Given the description of an element on the screen output the (x, y) to click on. 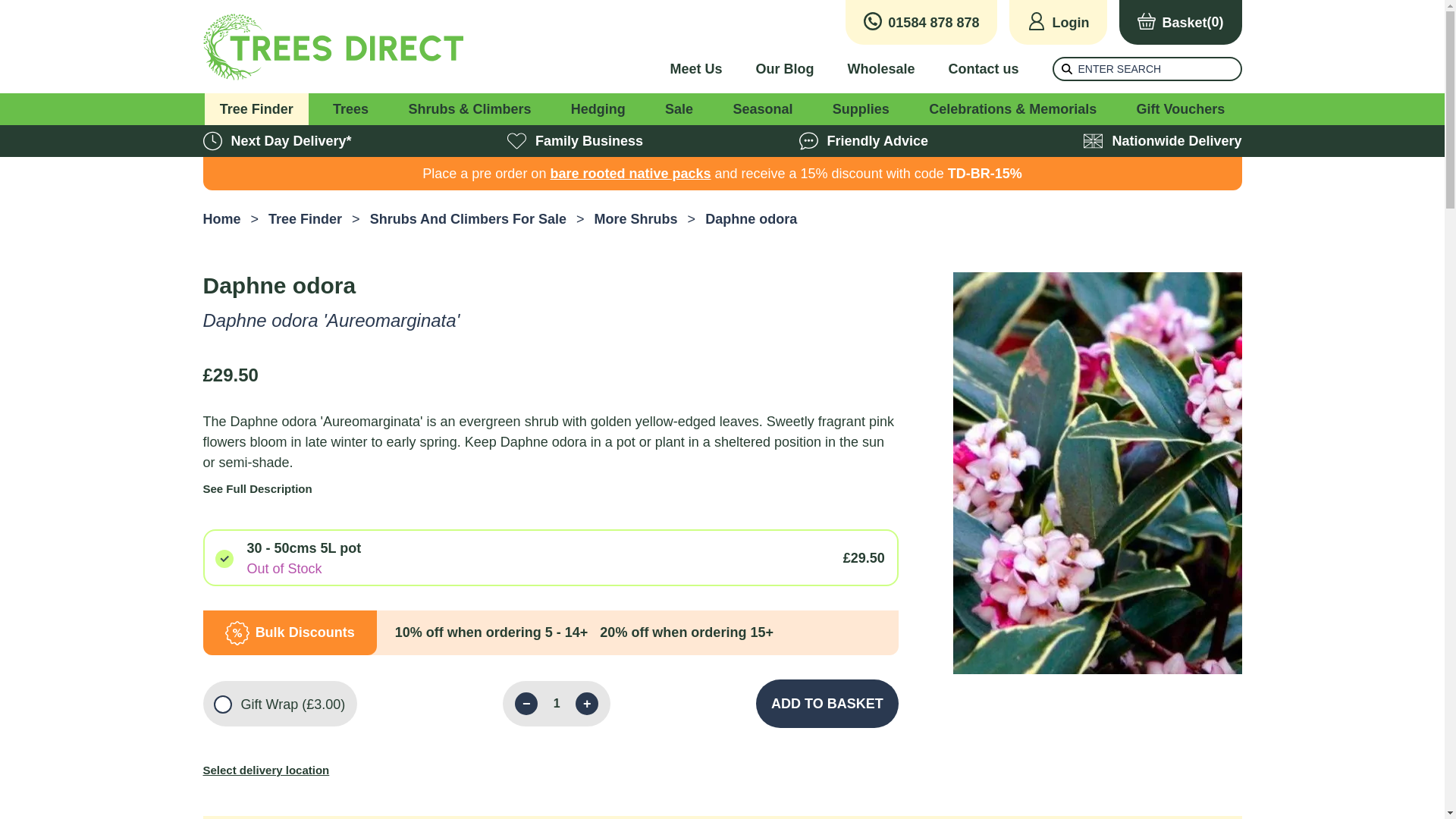
Contact us (982, 68)
Login (1057, 22)
Meet Us (695, 68)
30-50cms-5l-pot (222, 558)
on (221, 703)
Our Blog (784, 68)
Wholesale (880, 68)
01584 878 878 (921, 22)
